Given the description of an element on the screen output the (x, y) to click on. 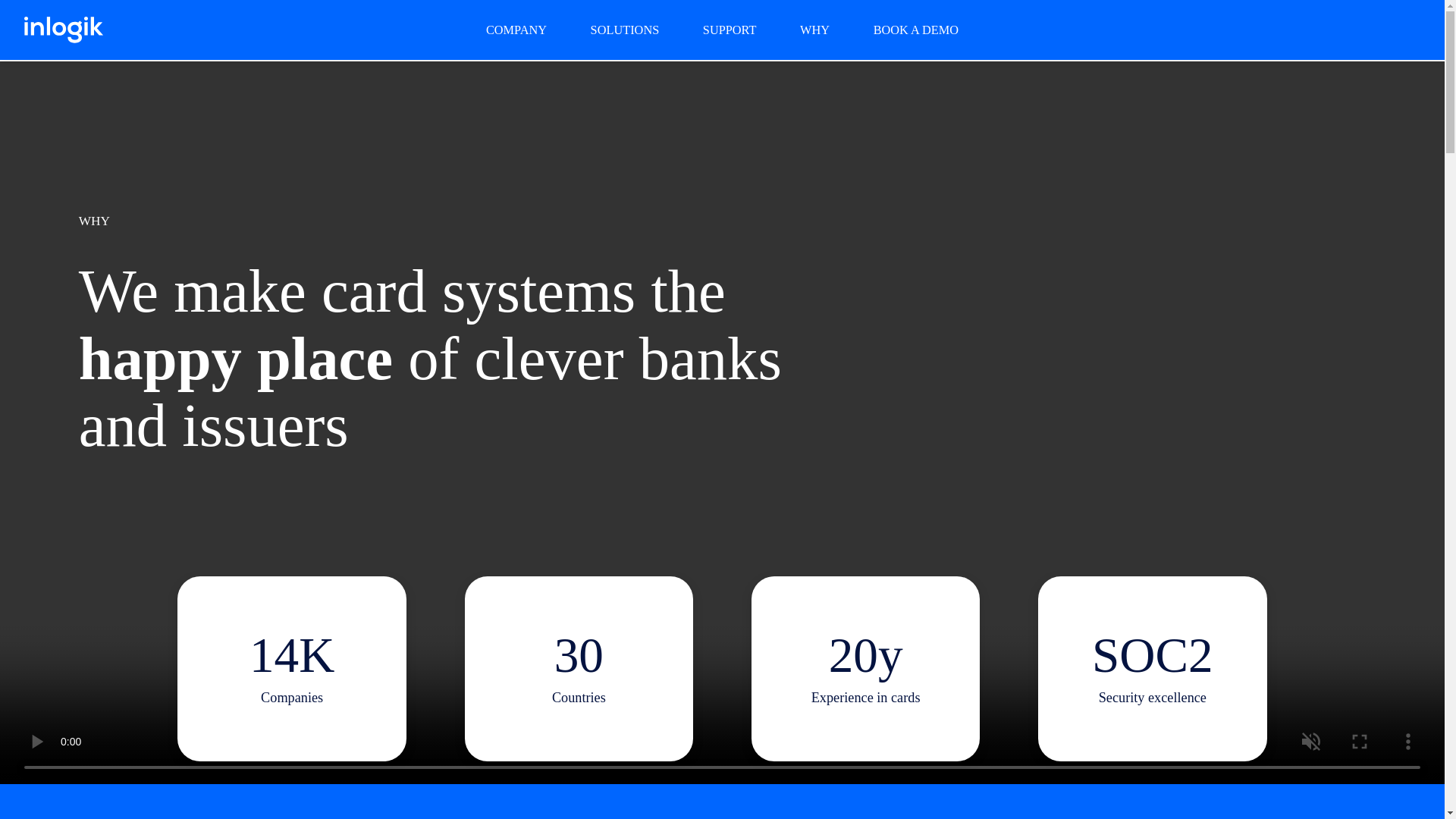
SUPPORT (730, 29)
30 (579, 655)
SOLUTIONS (625, 29)
COMPANY (516, 29)
14 (273, 655)
20 (852, 655)
